Given the description of an element on the screen output the (x, y) to click on. 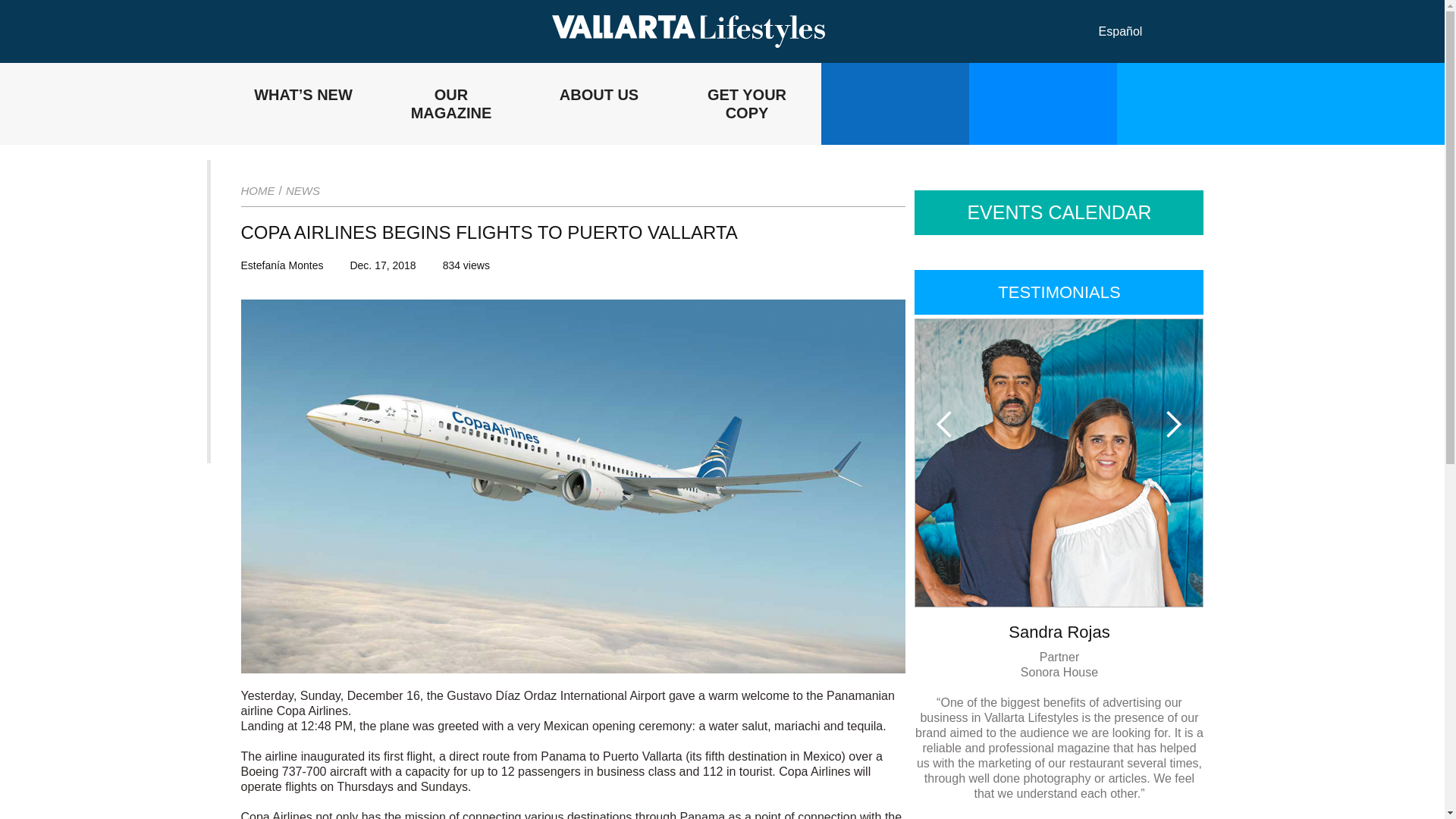
Sandra Rojas (1059, 632)
EVENTS CALENDAR (1059, 212)
TESTIMONIALS (1059, 292)
OUR MAGAZINE (451, 103)
ABOUT US (598, 103)
NEWS (302, 190)
GET YOUR COPY (746, 103)
HOME (258, 190)
